Given the description of an element on the screen output the (x, y) to click on. 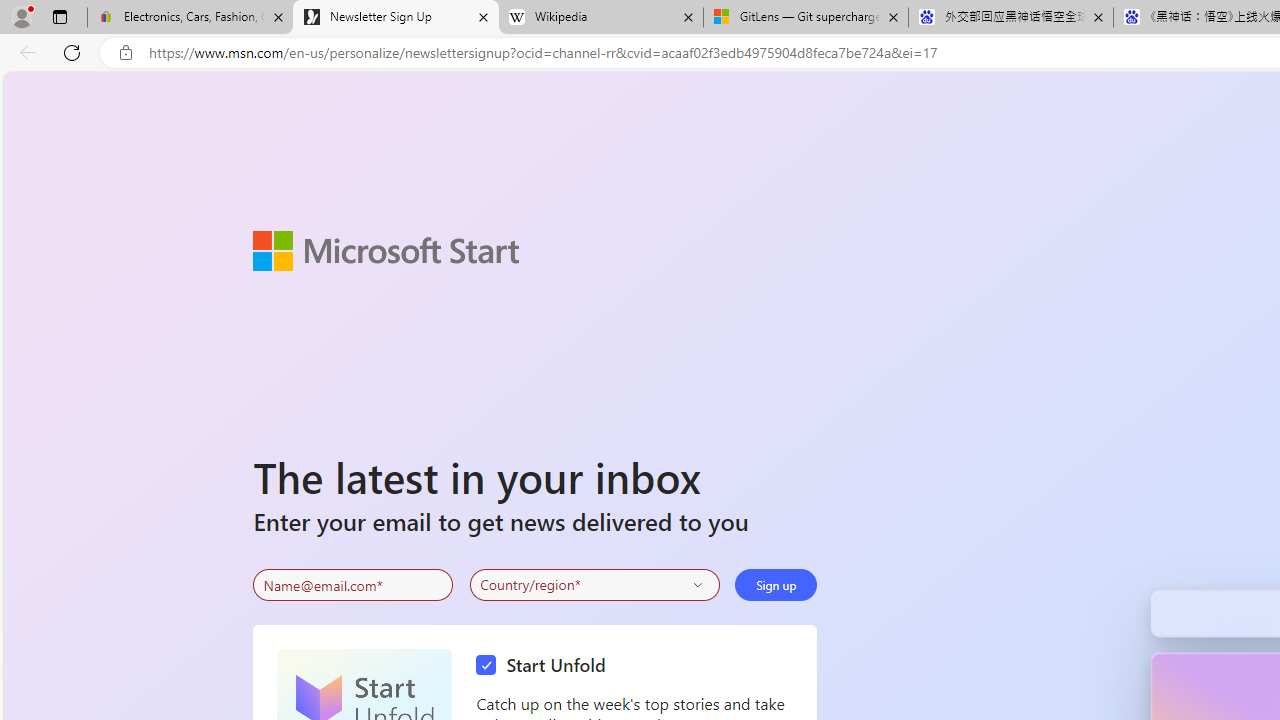
Enter your email (353, 585)
Wikipedia (600, 17)
Start Unfold (545, 665)
Newsletter Sign Up (395, 17)
Sign up (775, 584)
Electronics, Cars, Fashion, Collectibles & More | eBay (190, 17)
Select your country (594, 584)
